Given the description of an element on the screen output the (x, y) to click on. 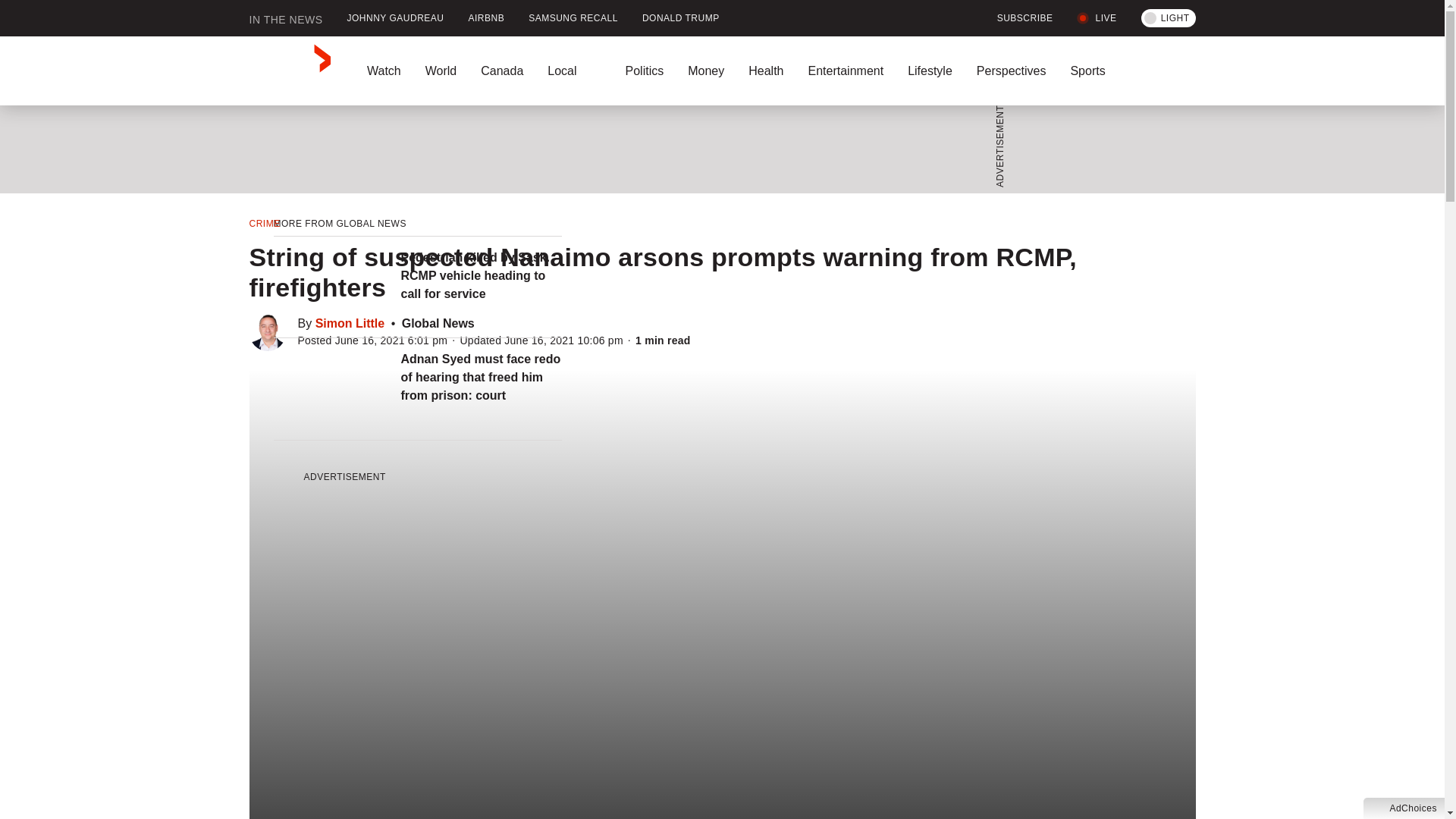
DONALD TRUMP (681, 18)
Local (573, 70)
AIRBNB (486, 18)
GlobalNews home (289, 70)
Posts by Simon Little (350, 323)
Lifestyle (929, 70)
LIVE (1096, 18)
Canada (501, 70)
JOHNNY GAUDREAU (395, 18)
